Given the description of an element on the screen output the (x, y) to click on. 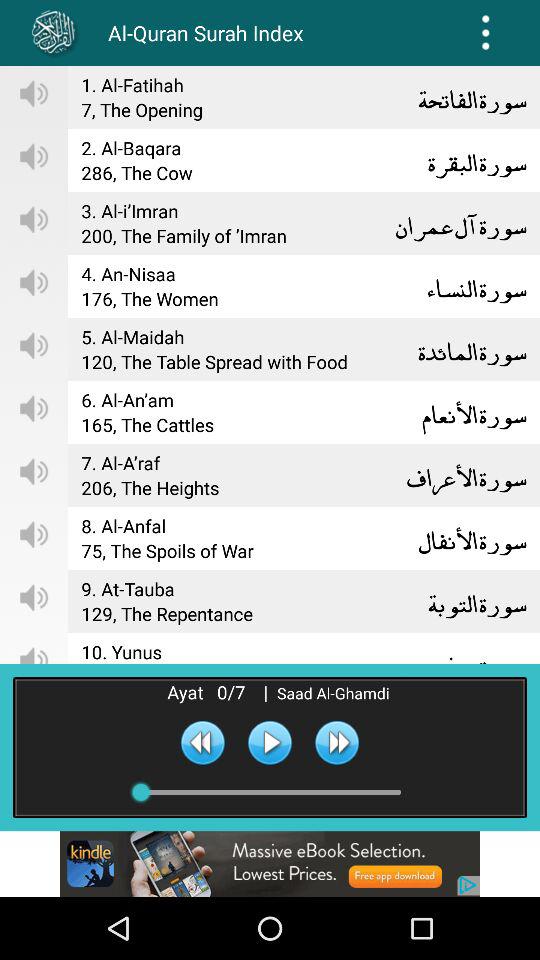
rewind button (202, 742)
